Given the description of an element on the screen output the (x, y) to click on. 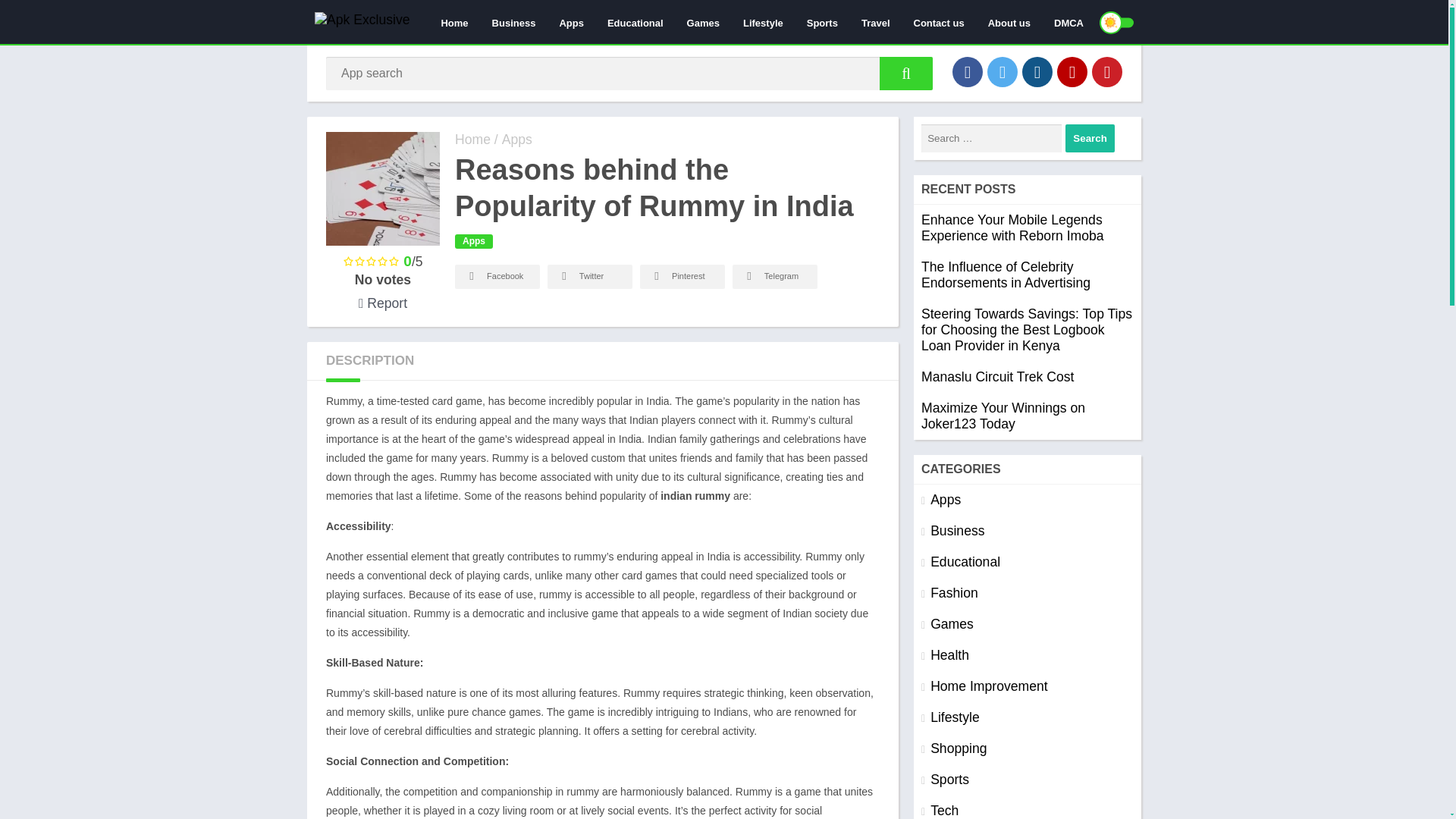
About us (1009, 22)
Lifestyle (763, 22)
Facebook (967, 71)
Games (702, 22)
Apps (473, 241)
Sports (821, 22)
Telegram (774, 276)
Facebook (497, 276)
Contact us (938, 22)
Search (1089, 138)
DMCA (1068, 22)
Travel (875, 22)
Home (454, 22)
Apk Exclusive (472, 139)
Pinterest (682, 276)
